Given the description of an element on the screen output the (x, y) to click on. 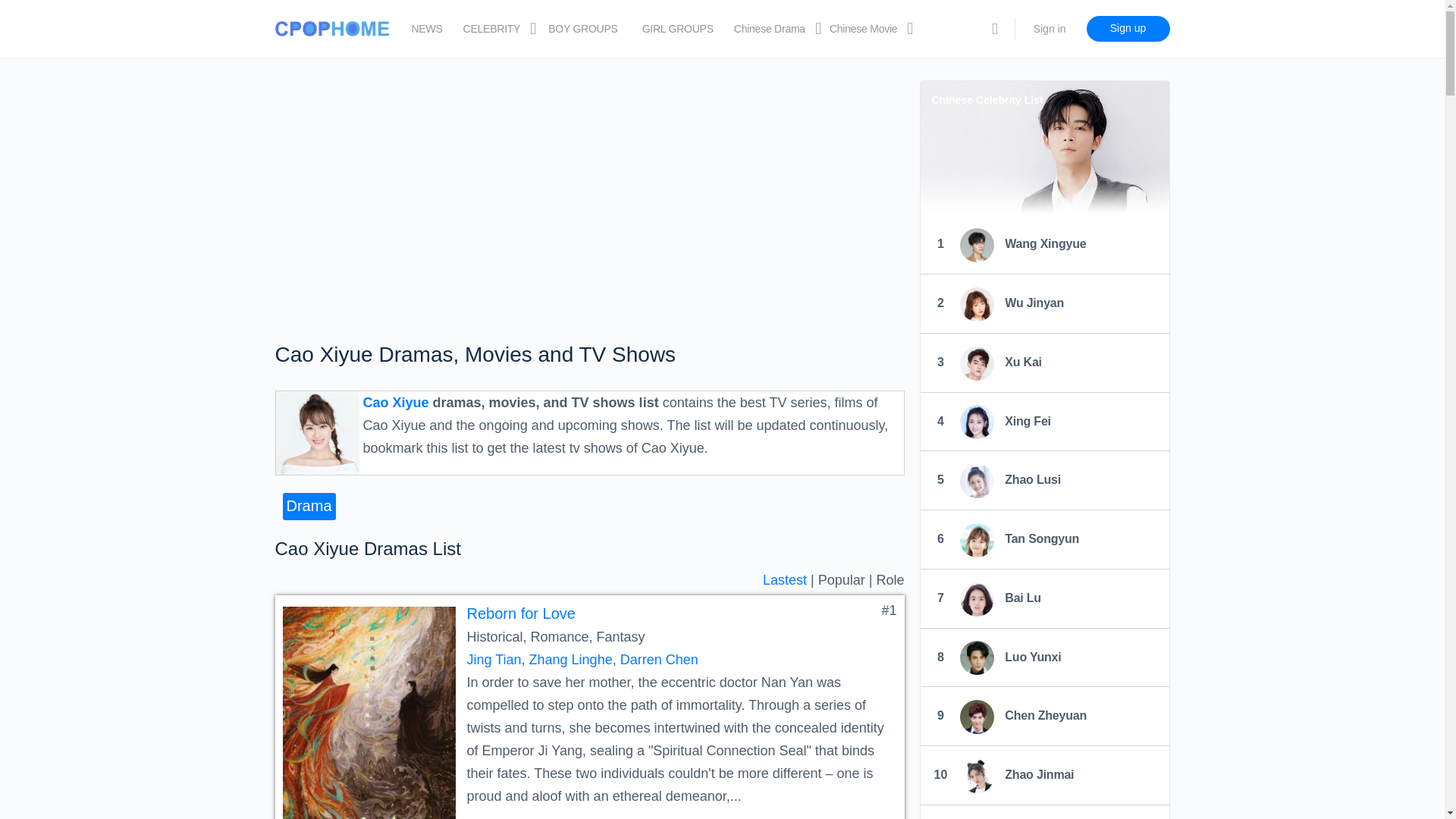
Advertisement (589, 193)
Sign in (1050, 28)
GIRL GROUPS (677, 28)
BOY GROUPS (582, 28)
Sign up (1127, 28)
CELEBRITY (492, 28)
Chinese Movie (862, 28)
Chinese Drama (769, 28)
